Given the description of an element on the screen output the (x, y) to click on. 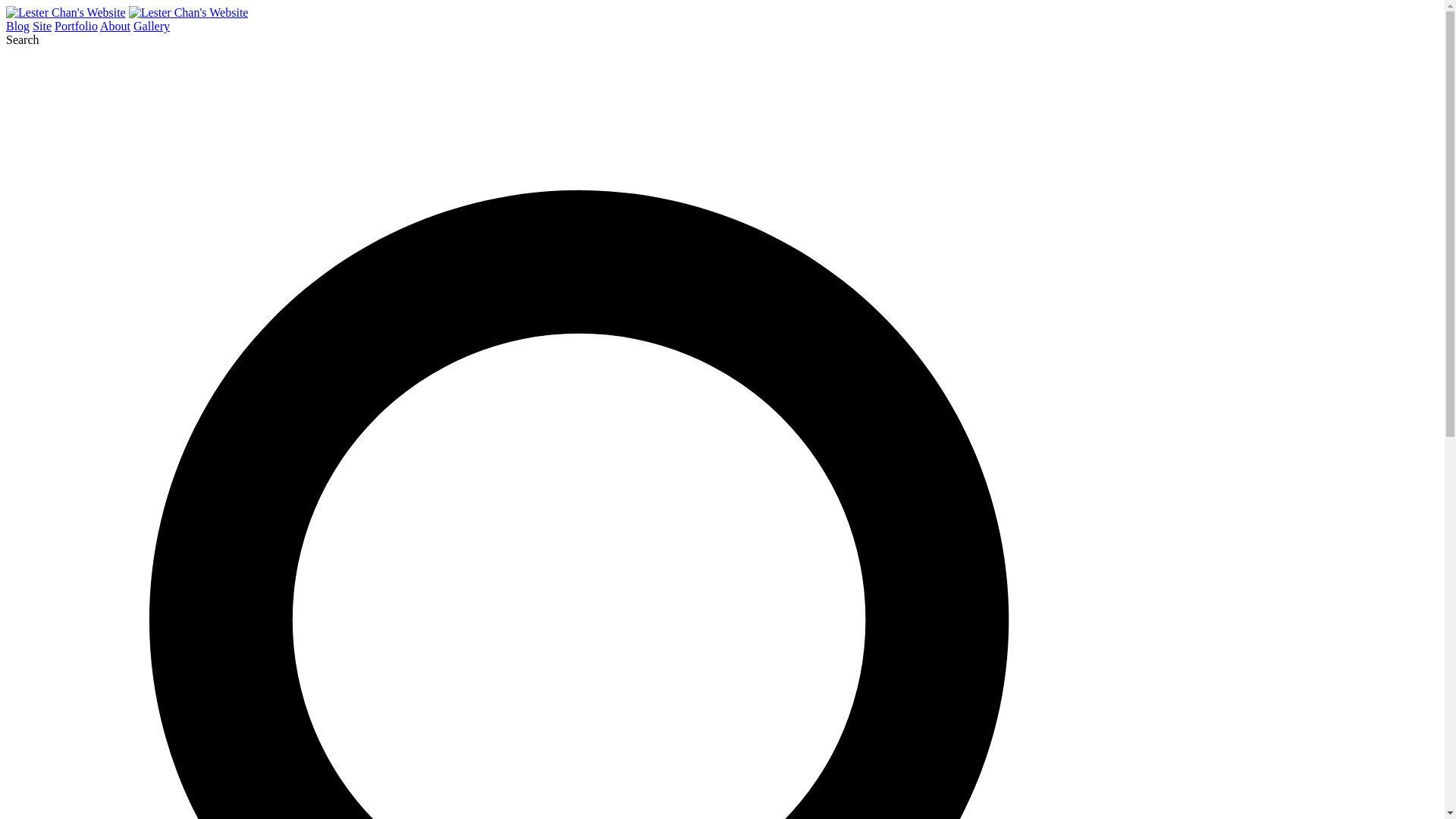
Lester Chan's Website (65, 11)
Lester Chan's Website (188, 11)
Gallery (151, 25)
About (115, 25)
Blog (17, 25)
Portfolio (76, 25)
Site (41, 25)
